Given the description of an element on the screen output the (x, y) to click on. 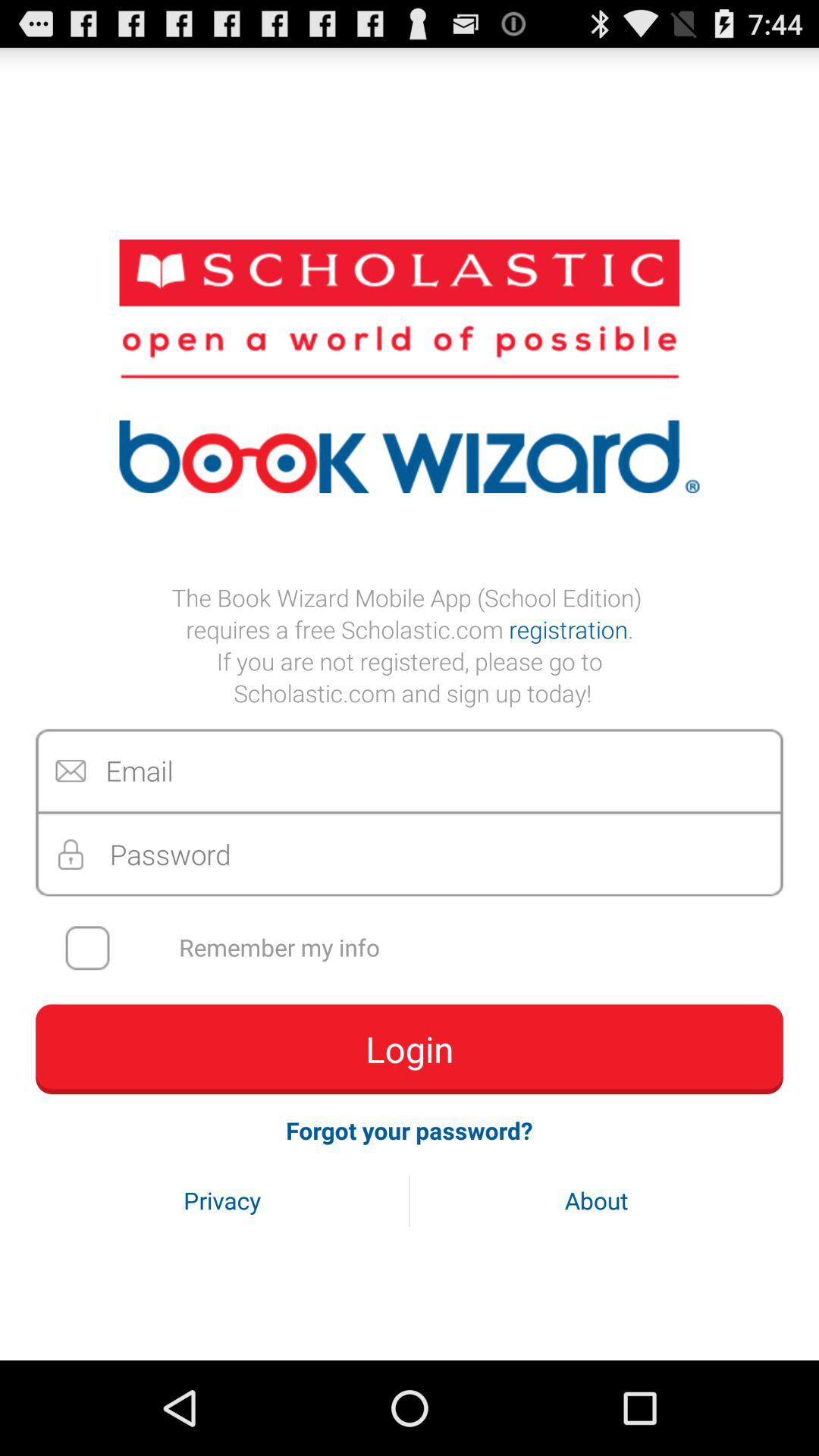
launch icon above the privacy button (409, 1130)
